Given the description of an element on the screen output the (x, y) to click on. 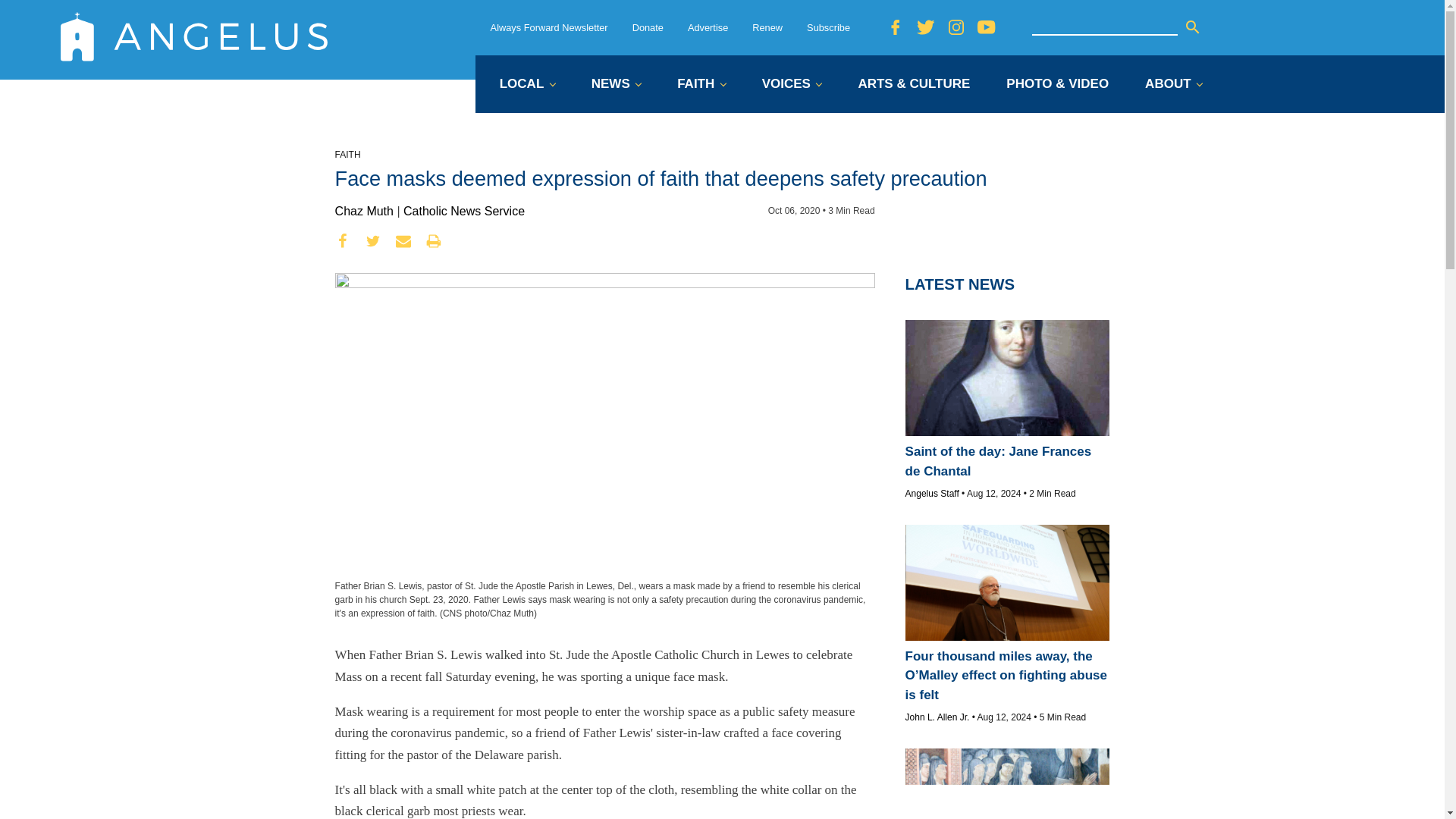
LOCAL (526, 84)
Subscribe (828, 27)
Advertise (707, 27)
Donate (647, 27)
Search (1192, 27)
Posts by John L. Allen Jr. (937, 716)
envelope (403, 240)
Always Forward Newsletter (549, 27)
NEWS (615, 84)
Posts by Chaz Muth (363, 210)
